Given the description of an element on the screen output the (x, y) to click on. 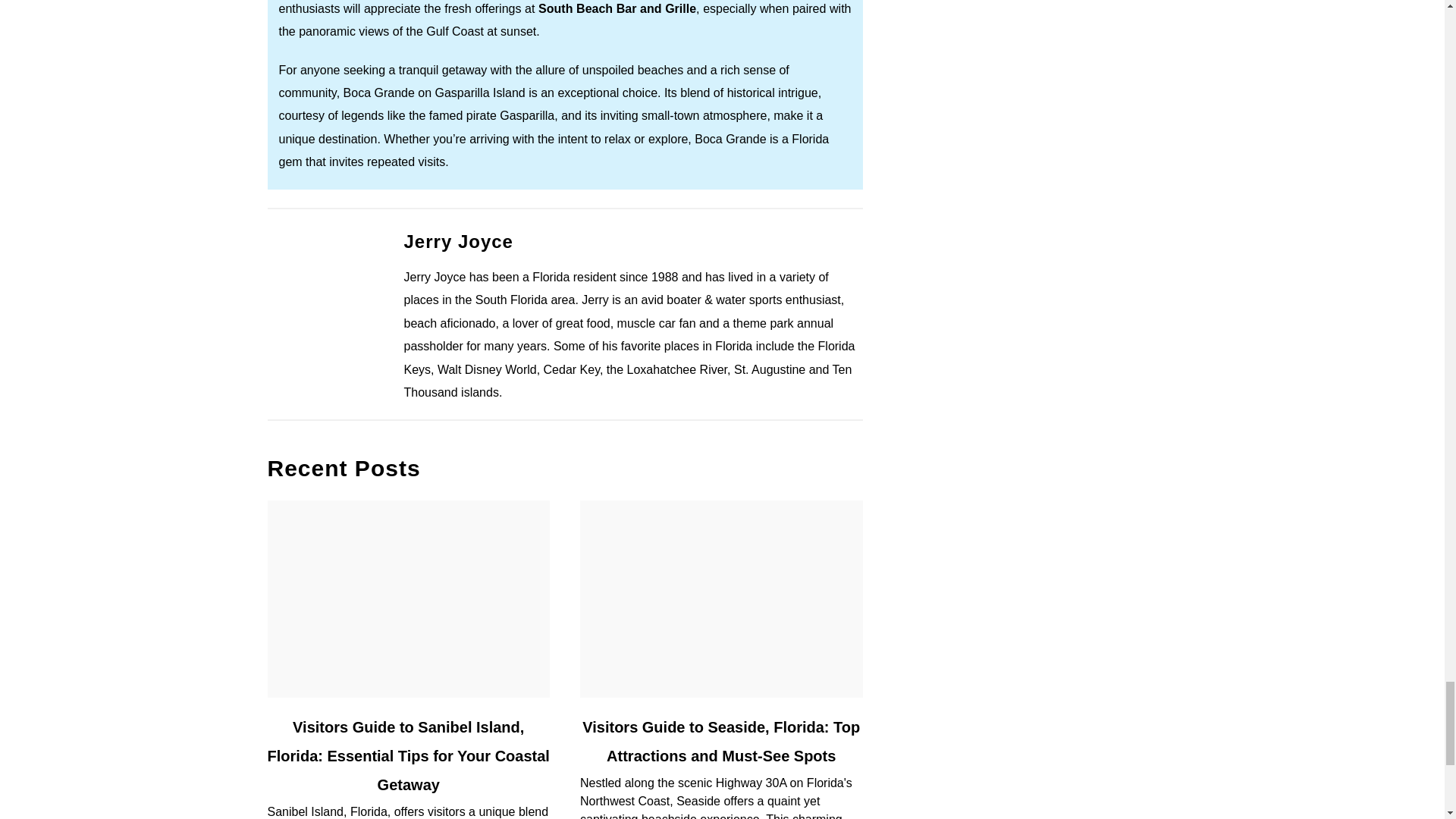
Jerry Joyce (457, 240)
